Given the description of an element on the screen output the (x, y) to click on. 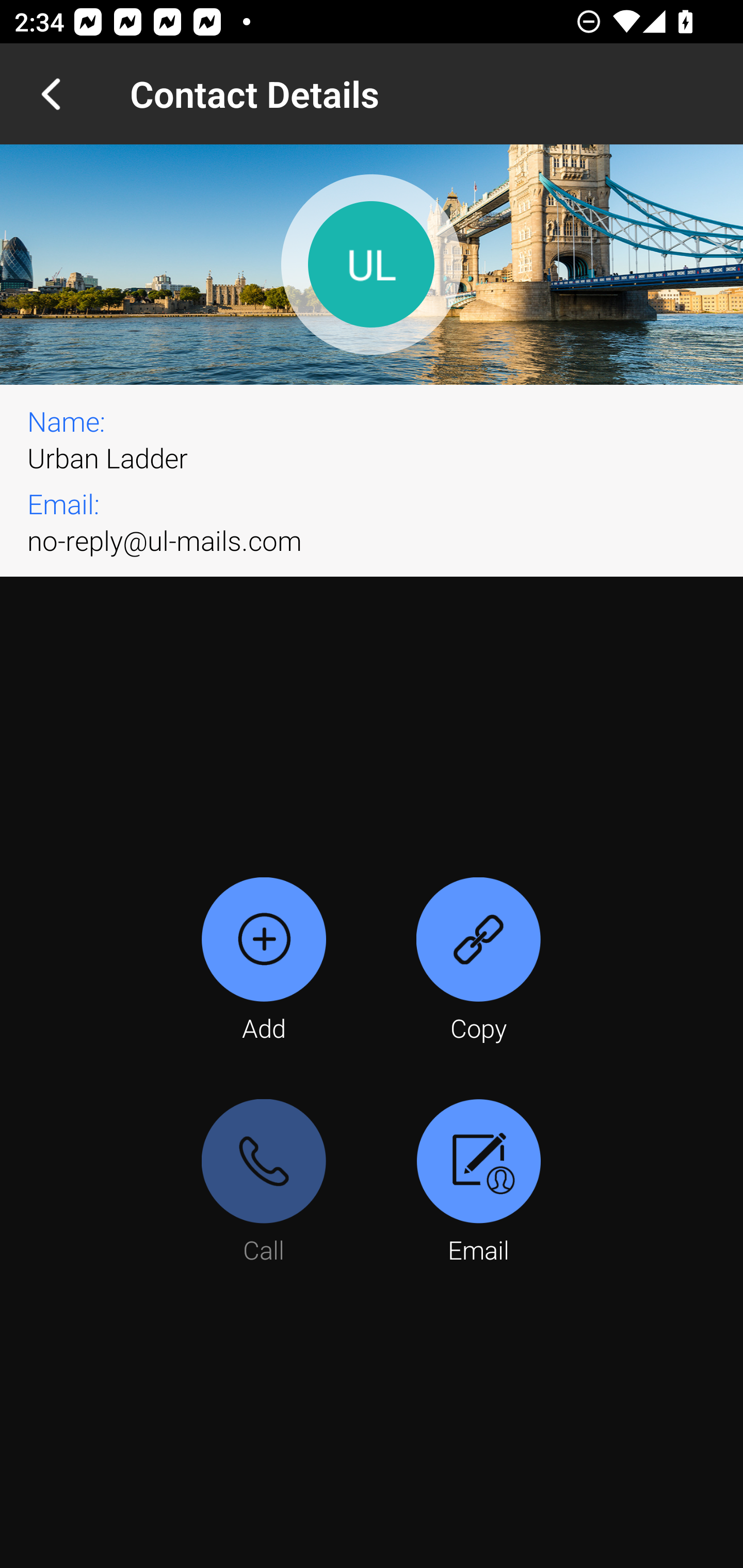
Navigate up (50, 93)
Add (264, 961)
Copy (478, 961)
Call (264, 1182)
Email (478, 1182)
